Given the description of an element on the screen output the (x, y) to click on. 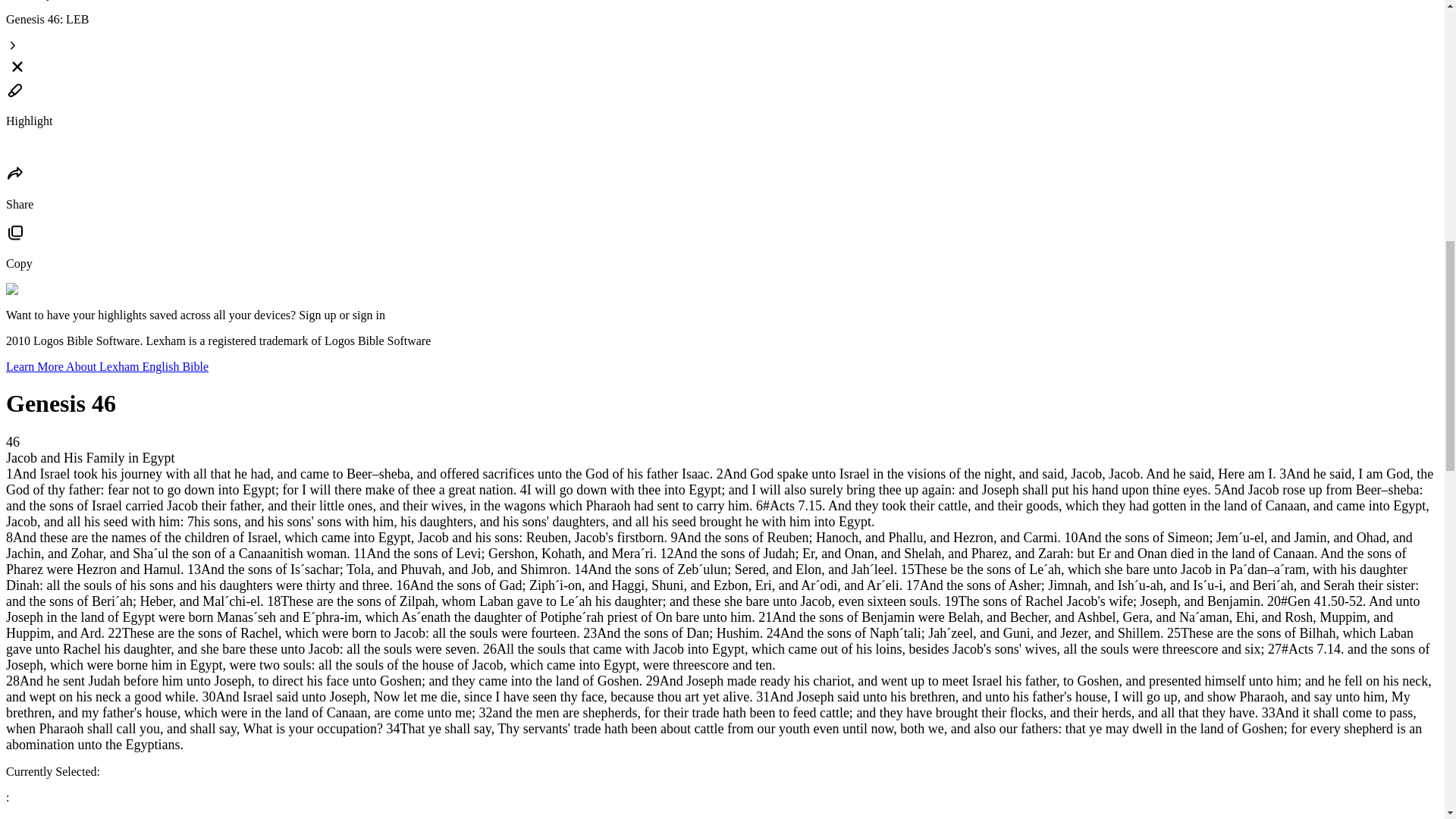
Learn More About Lexham English Bible (106, 366)
Sign up or sign in (341, 314)
